Given the description of an element on the screen output the (x, y) to click on. 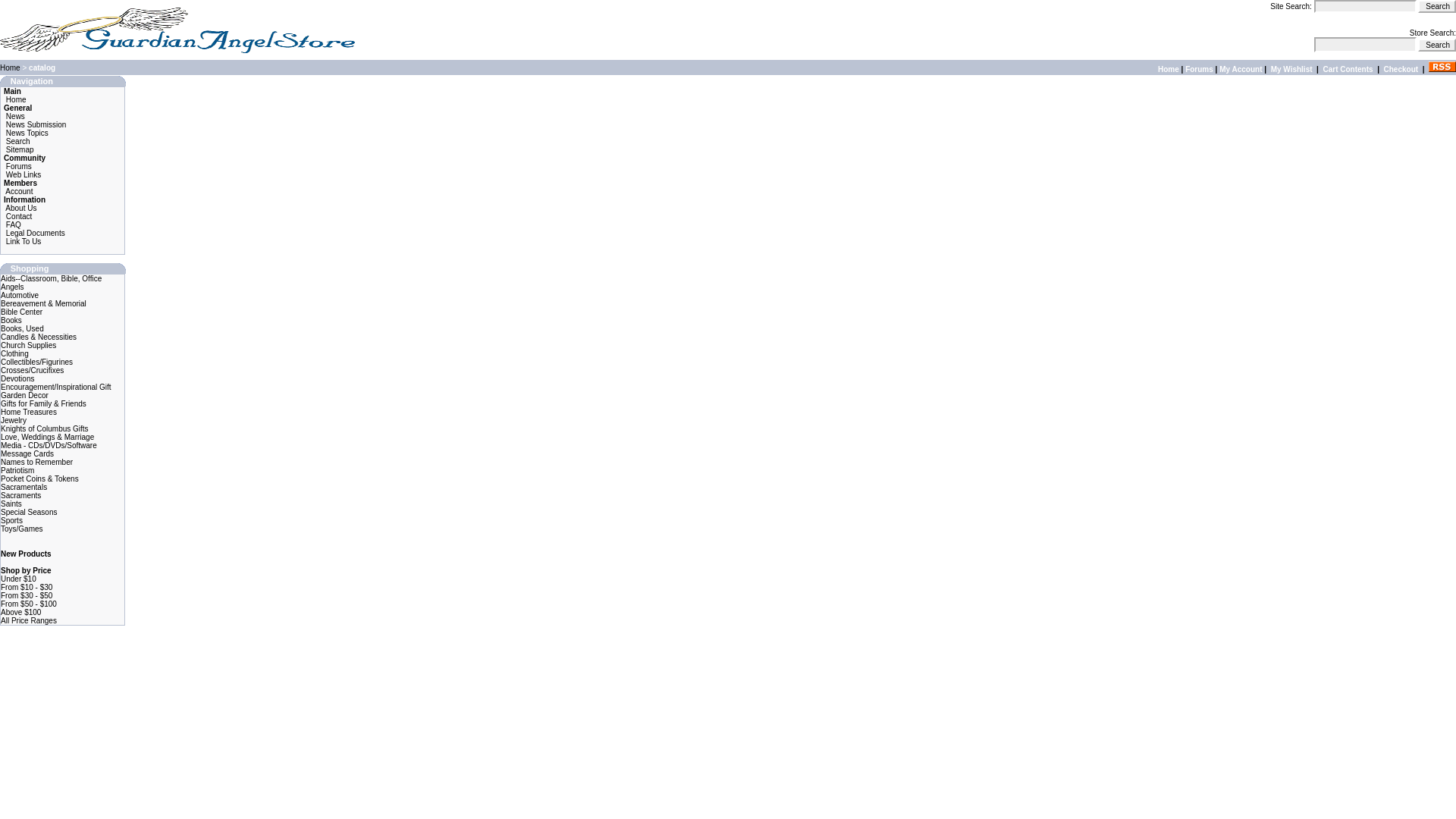
Home (15, 99)
Sitemap (19, 149)
News (14, 116)
Devotions (17, 378)
Forums (18, 166)
Link To Us (23, 241)
News Topics (26, 132)
FAQ (13, 224)
Books, Used (22, 328)
Aids--Classroom, Bible, Office (51, 278)
Account (18, 191)
Church Supplies (28, 345)
Checkout (1401, 69)
About Us (20, 207)
